Given the description of an element on the screen output the (x, y) to click on. 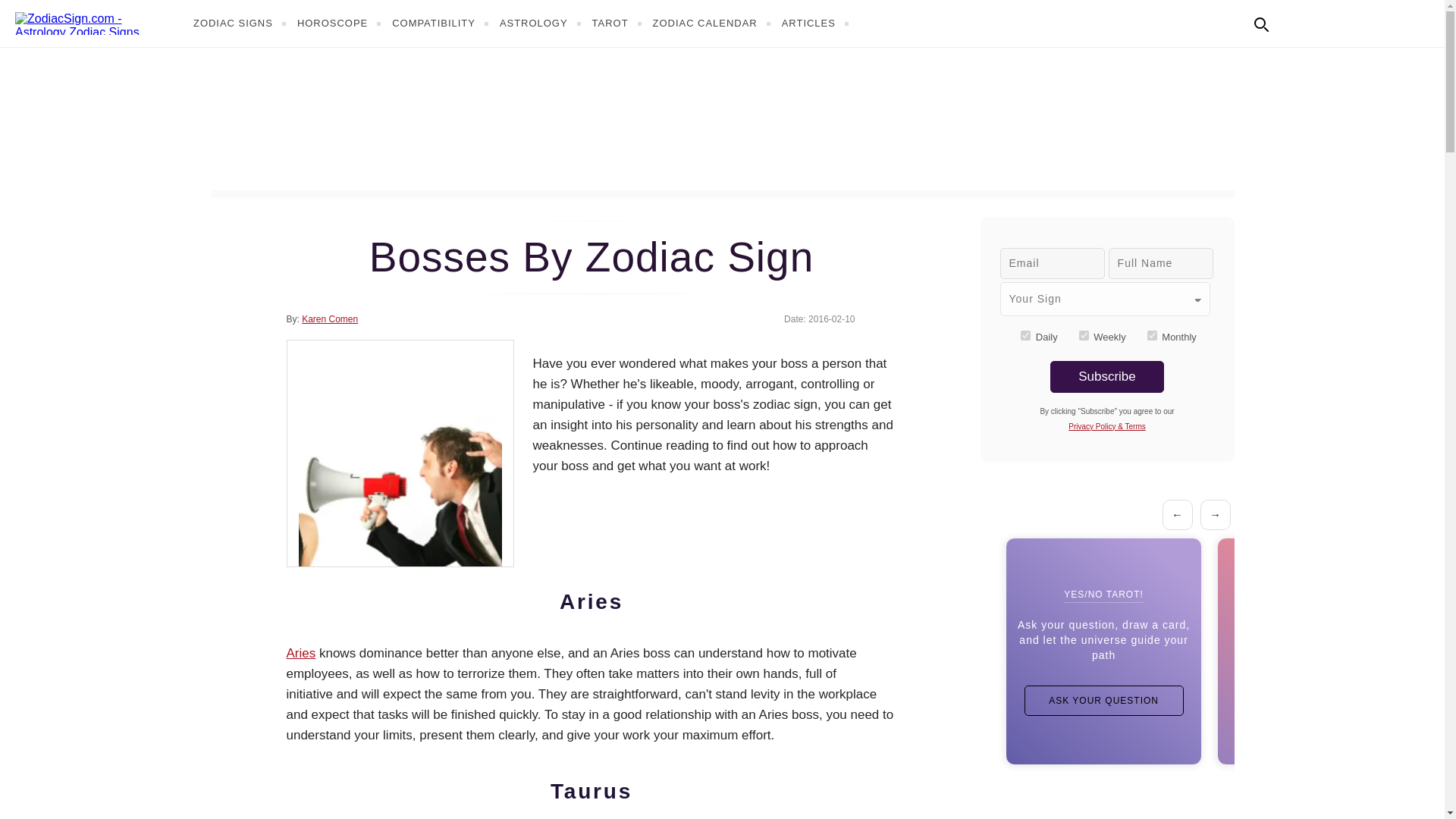
HOROSCOPE (341, 23)
In English (1294, 21)
daily (1025, 335)
ZODIAC SIGNS (241, 23)
weekly (1083, 335)
monthly (1152, 335)
